Given the description of an element on the screen output the (x, y) to click on. 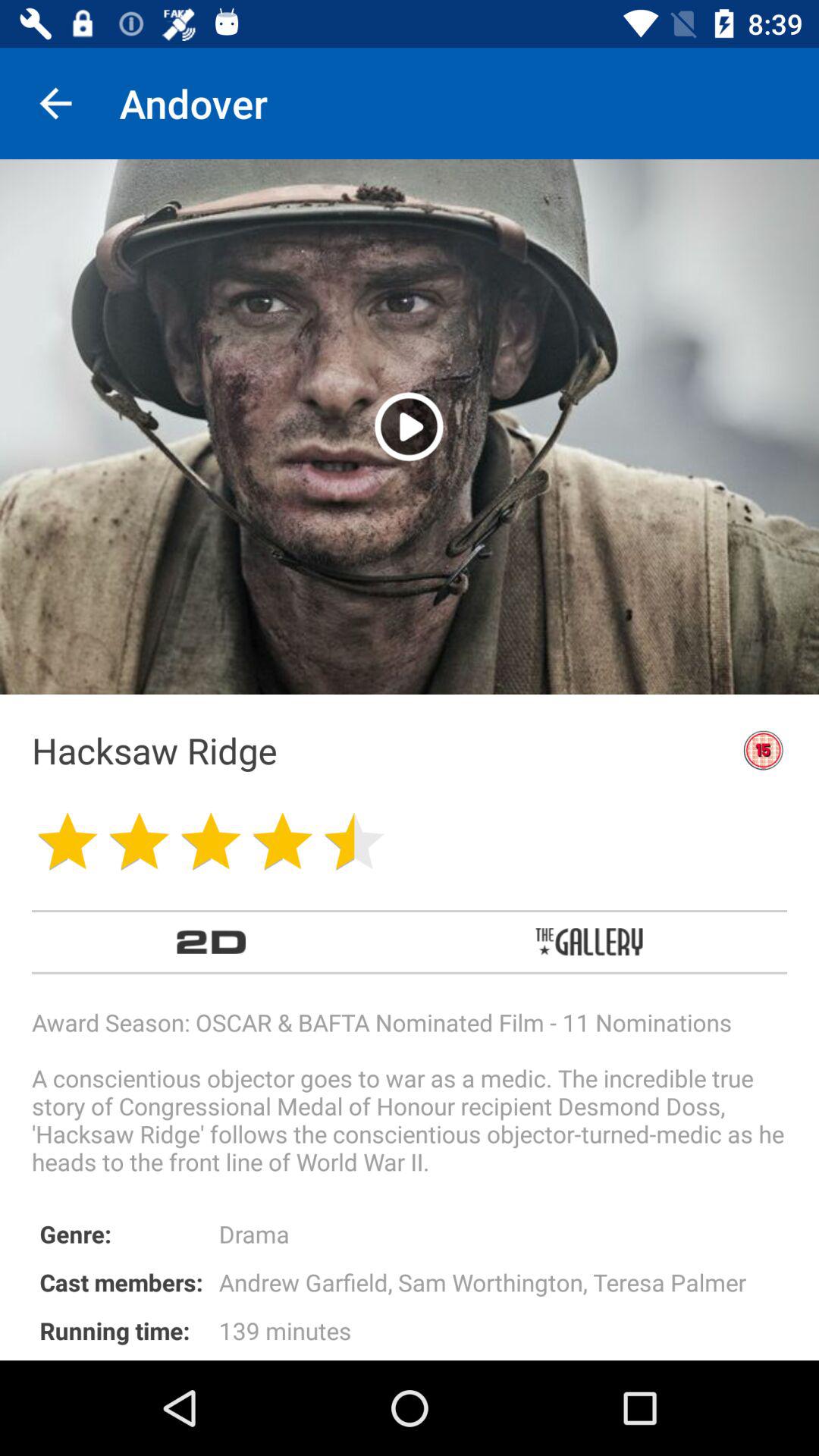
play video (408, 426)
